Given the description of an element on the screen output the (x, y) to click on. 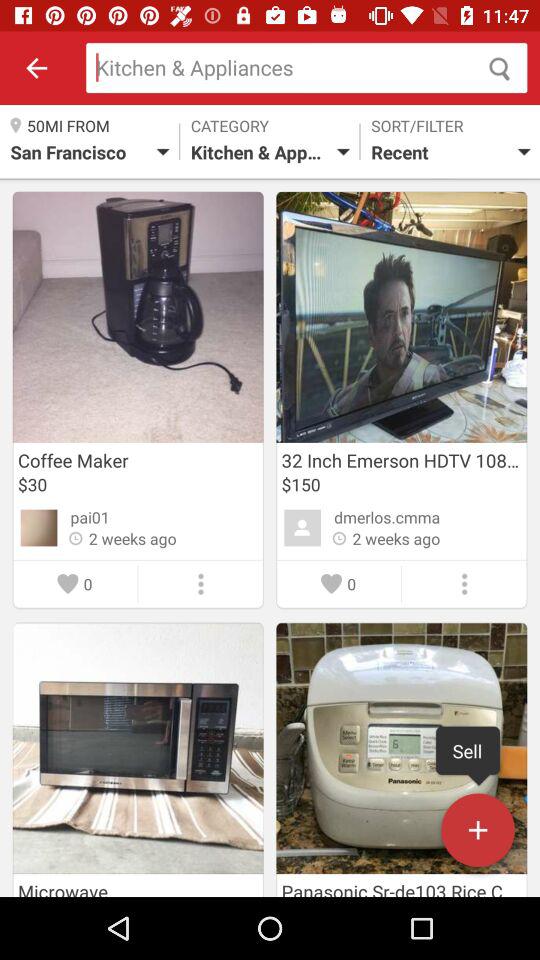
swipe to pai01 item (89, 517)
